Given the description of an element on the screen output the (x, y) to click on. 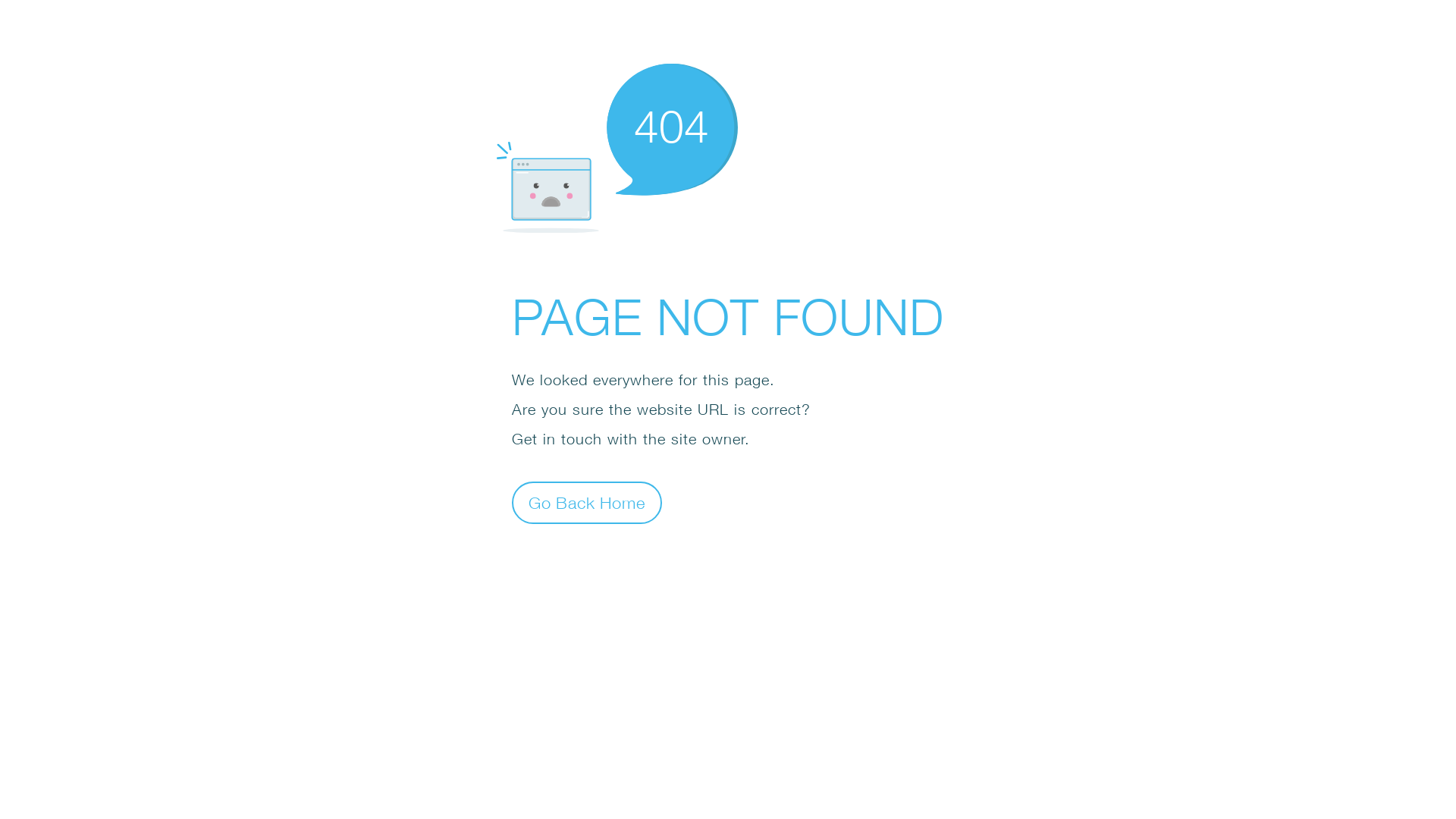
Go Back Home Element type: text (586, 502)
